Given the description of an element on the screen output the (x, y) to click on. 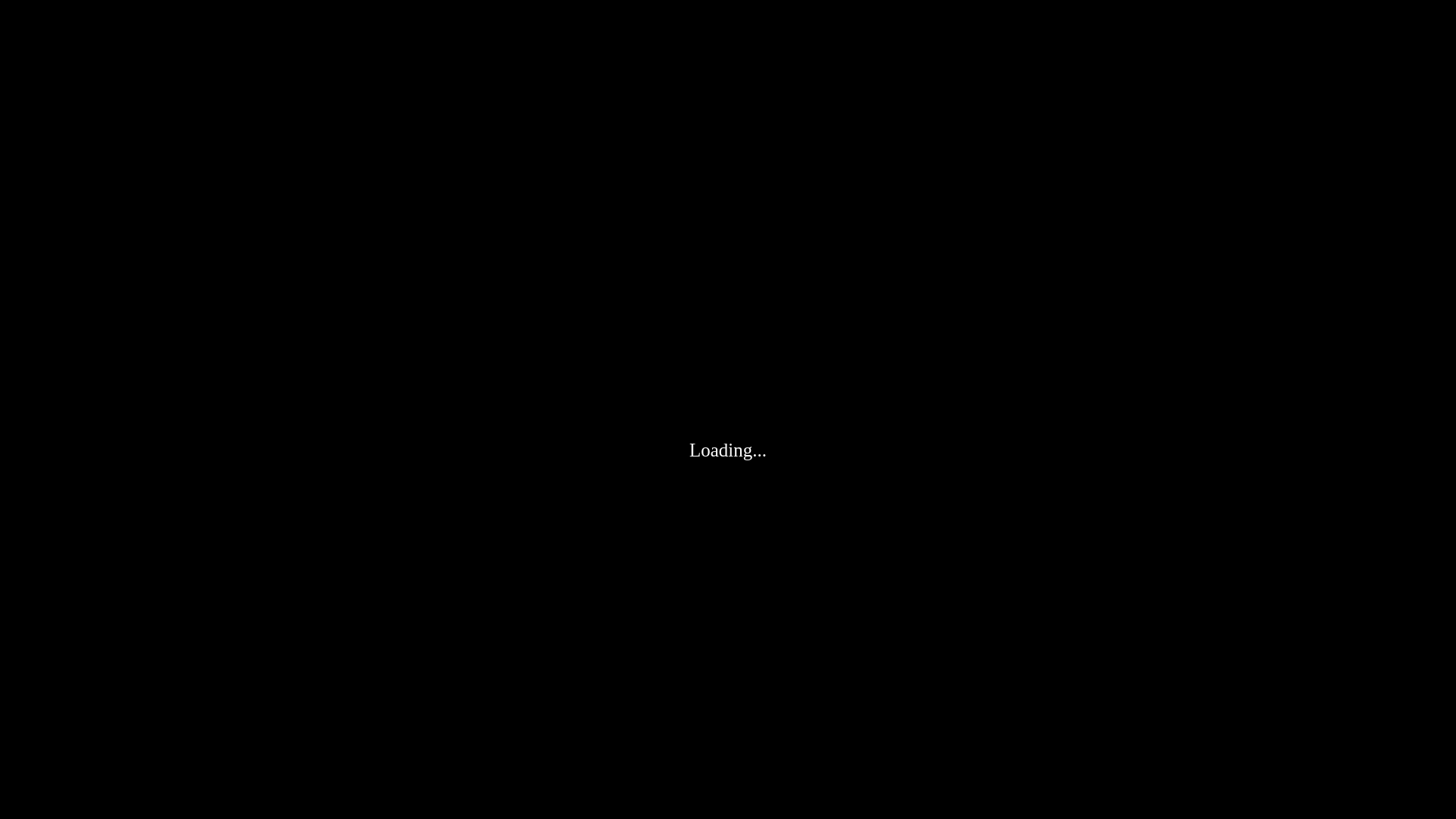
CLICK HERE Element type: text (1028, 558)
GO Element type: text (727, 466)
Nederlands Element type: text (727, 516)
PRIVACY POLICY Element type: text (763, 558)
